Given the description of an element on the screen output the (x, y) to click on. 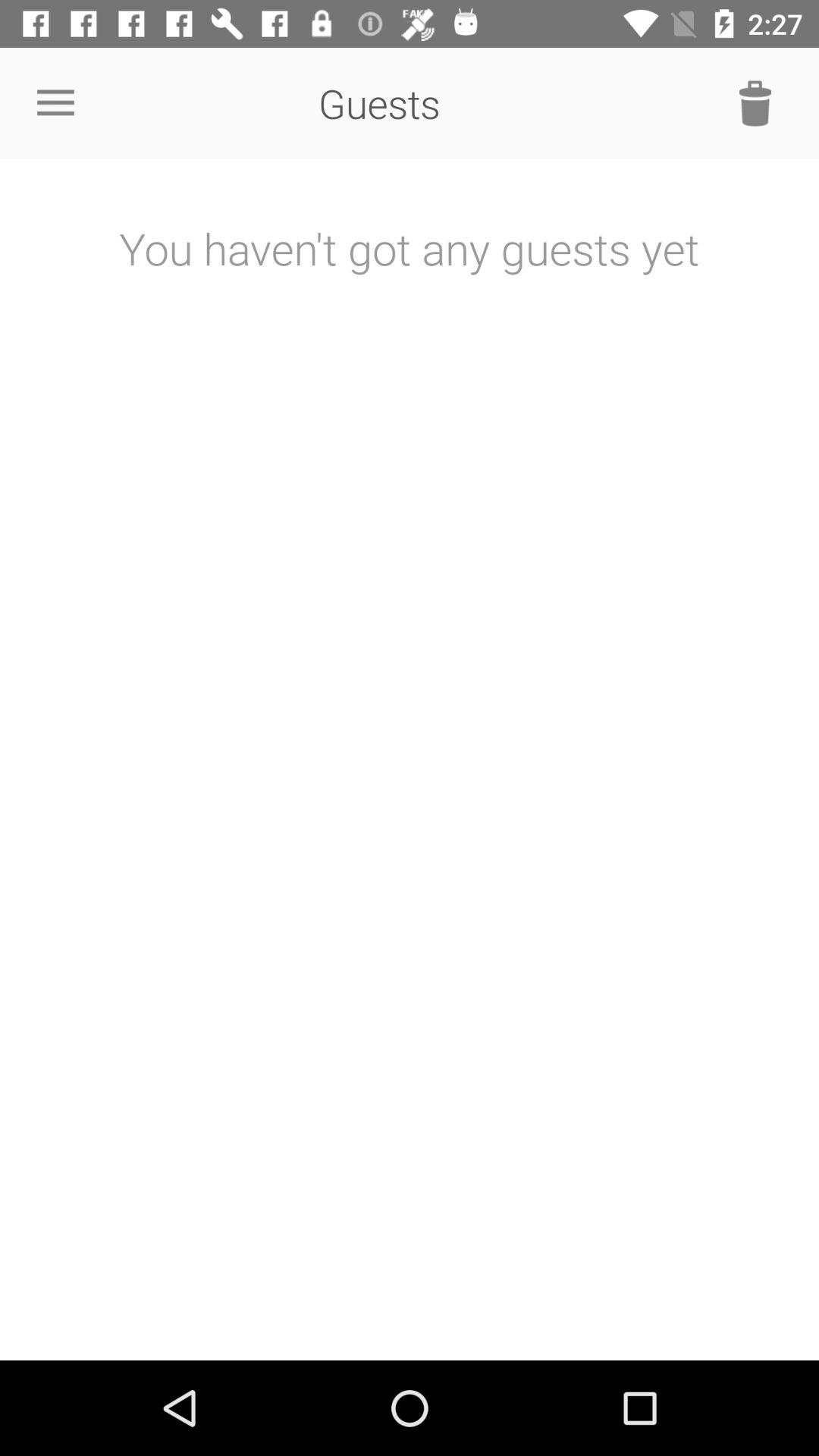
launch icon above you haven t (55, 103)
